Given the description of an element on the screen output the (x, y) to click on. 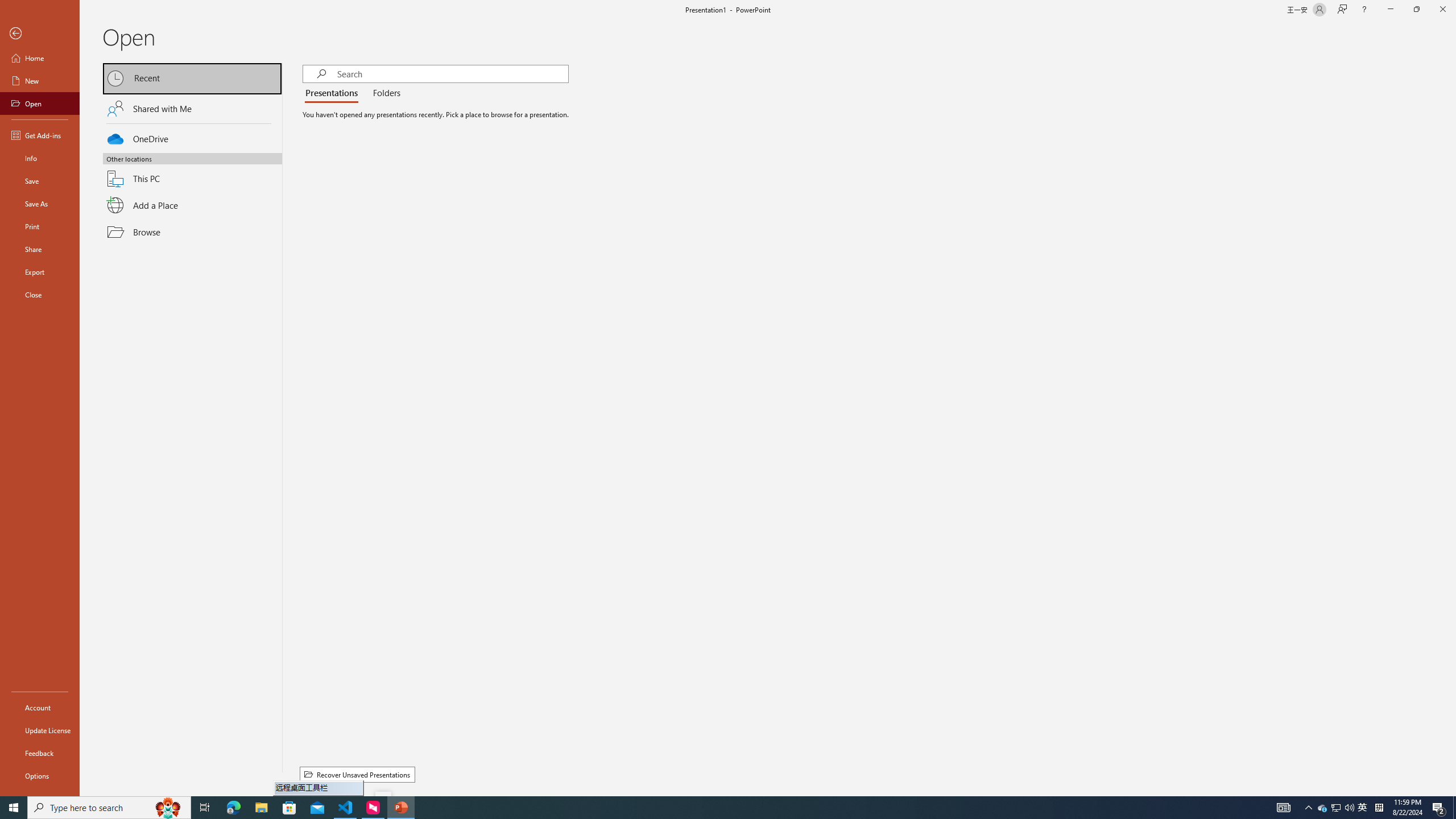
Print (40, 225)
Presentations (333, 93)
Recover Unsaved Presentations (356, 774)
Add a Place (192, 204)
New (40, 80)
Get Add-ins (40, 134)
This PC (192, 171)
Browse (192, 231)
